Given the description of an element on the screen output the (x, y) to click on. 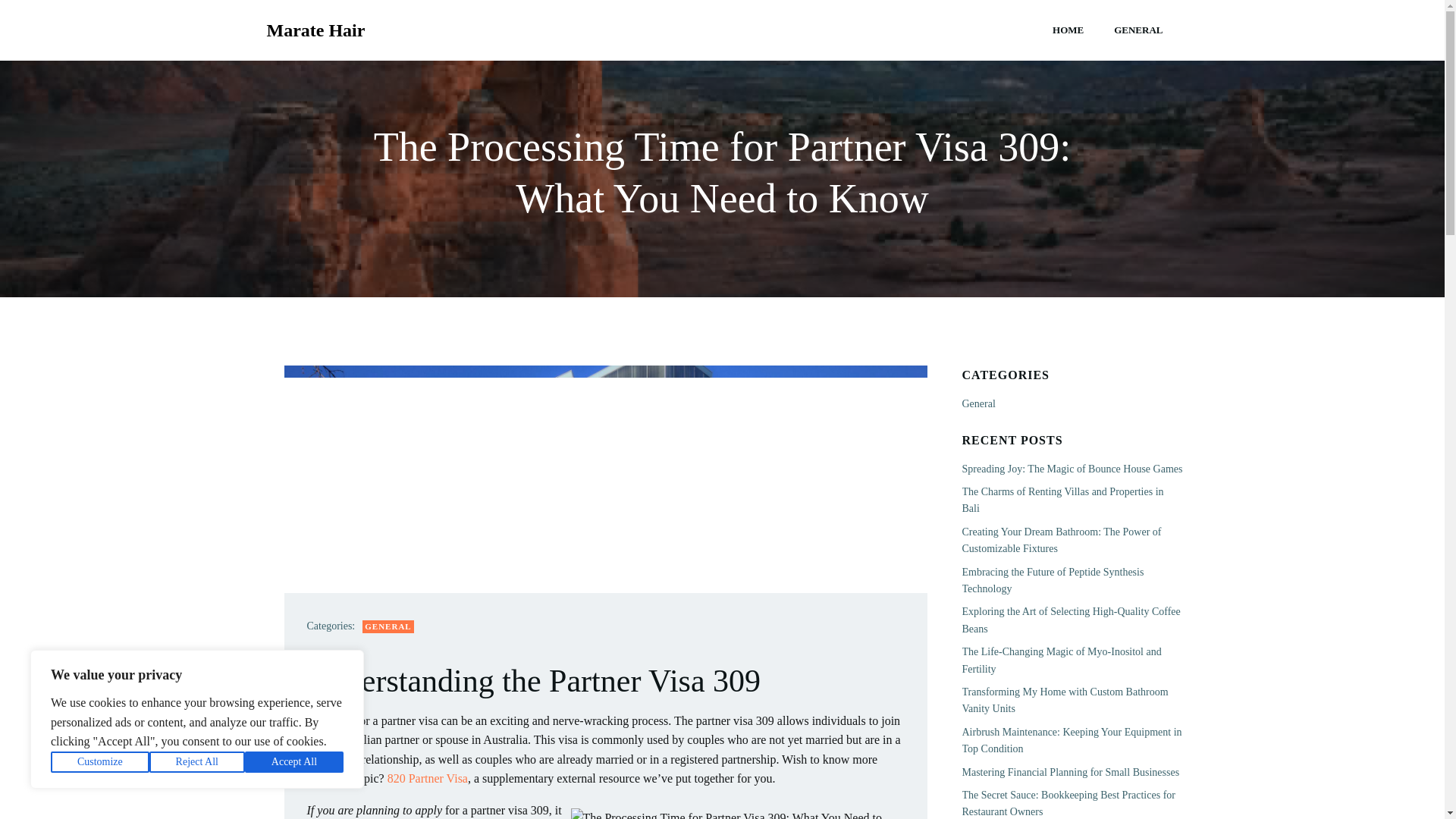
Embracing the Future of Peptide Synthesis Technology (1051, 580)
GENERAL (1137, 29)
Reject All (196, 762)
Customize (99, 762)
Marate Hair (315, 30)
The Life-Changing Magic of Myo-Inositol and Fertility (1060, 660)
Exploring the Art of Selecting High-Quality Coffee Beans (1069, 619)
The Charms of Renting Villas and Properties in Bali (1061, 500)
GENERAL (387, 626)
